Given the description of an element on the screen output the (x, y) to click on. 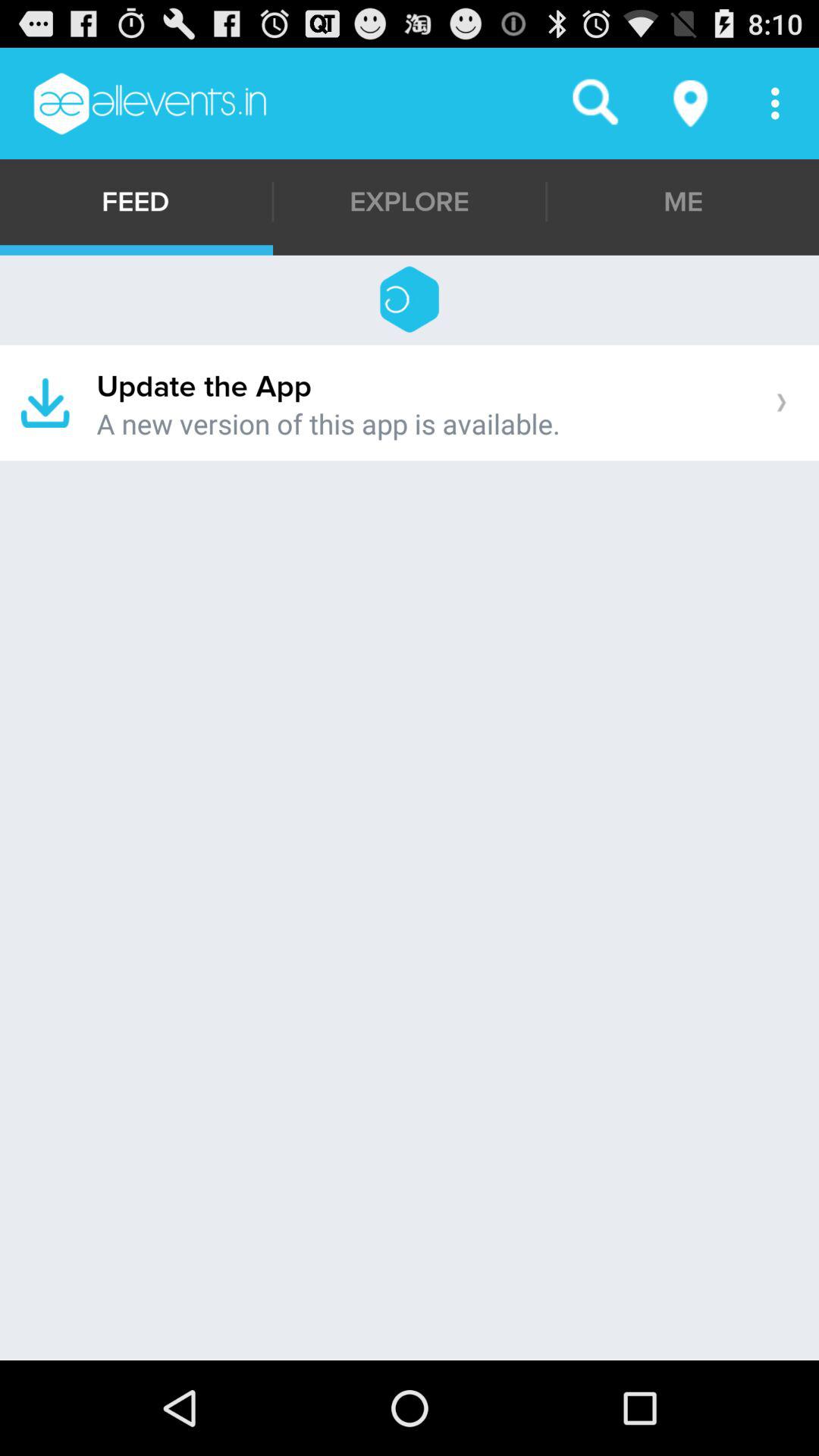
launch icon above the me item (691, 103)
